Given the description of an element on the screen output the (x, y) to click on. 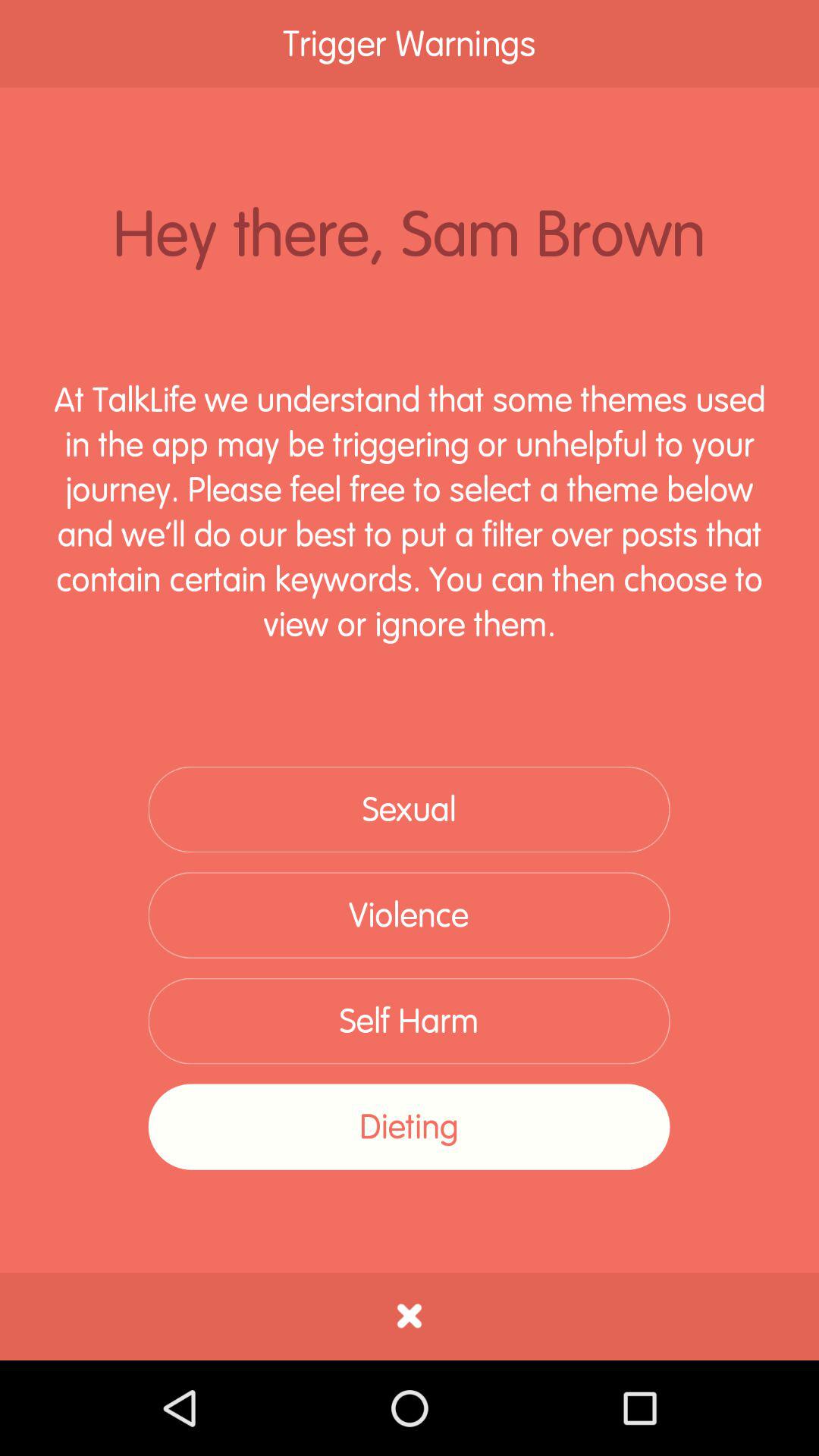
flip to the sexual icon (408, 809)
